Given the description of an element on the screen output the (x, y) to click on. 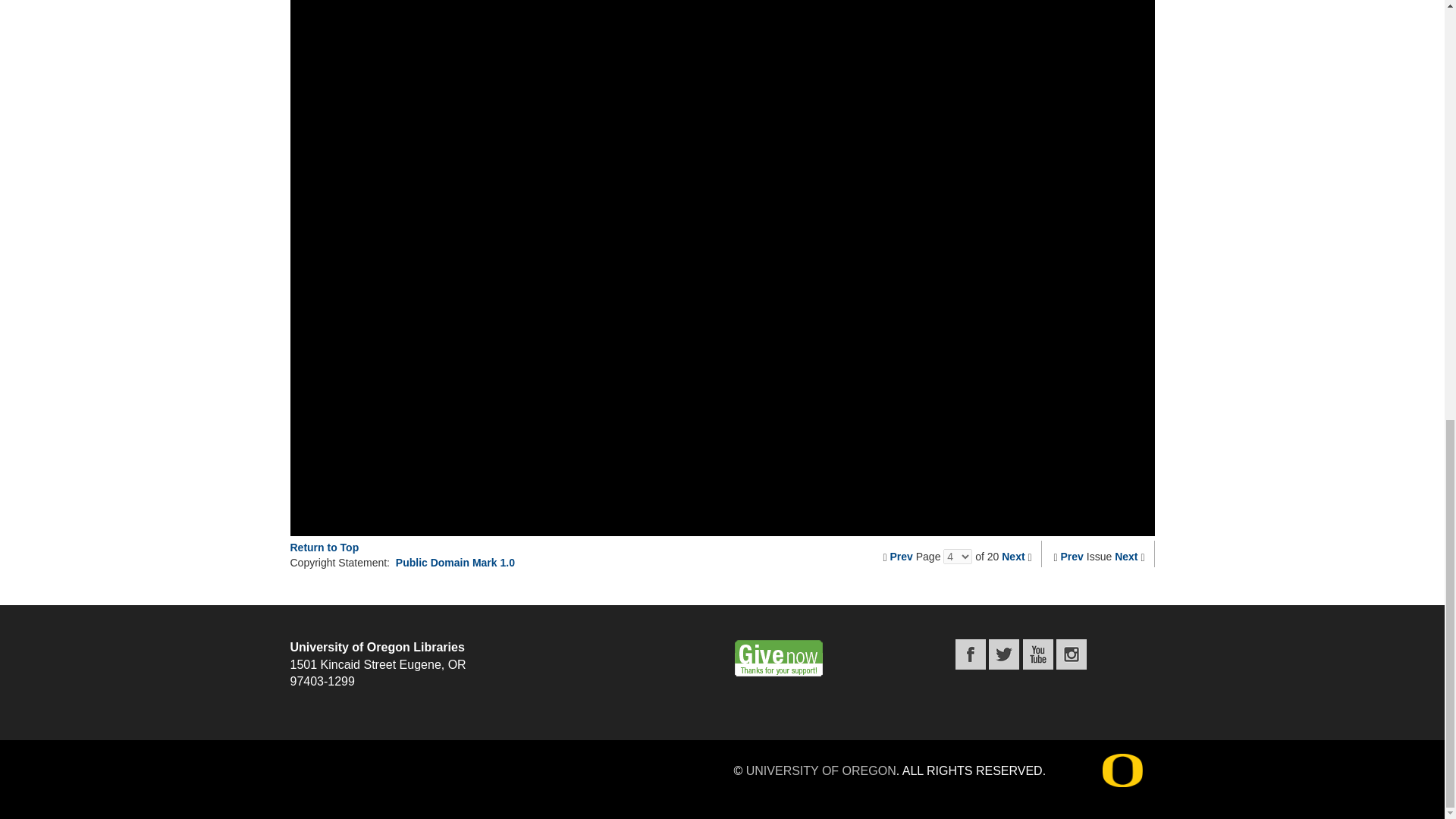
Next (1013, 556)
Next (1126, 556)
Return to Top (323, 547)
Public Domain Mark 1.0 (455, 562)
Prev (1072, 556)
Prev (900, 556)
